Given the description of an element on the screen output the (x, y) to click on. 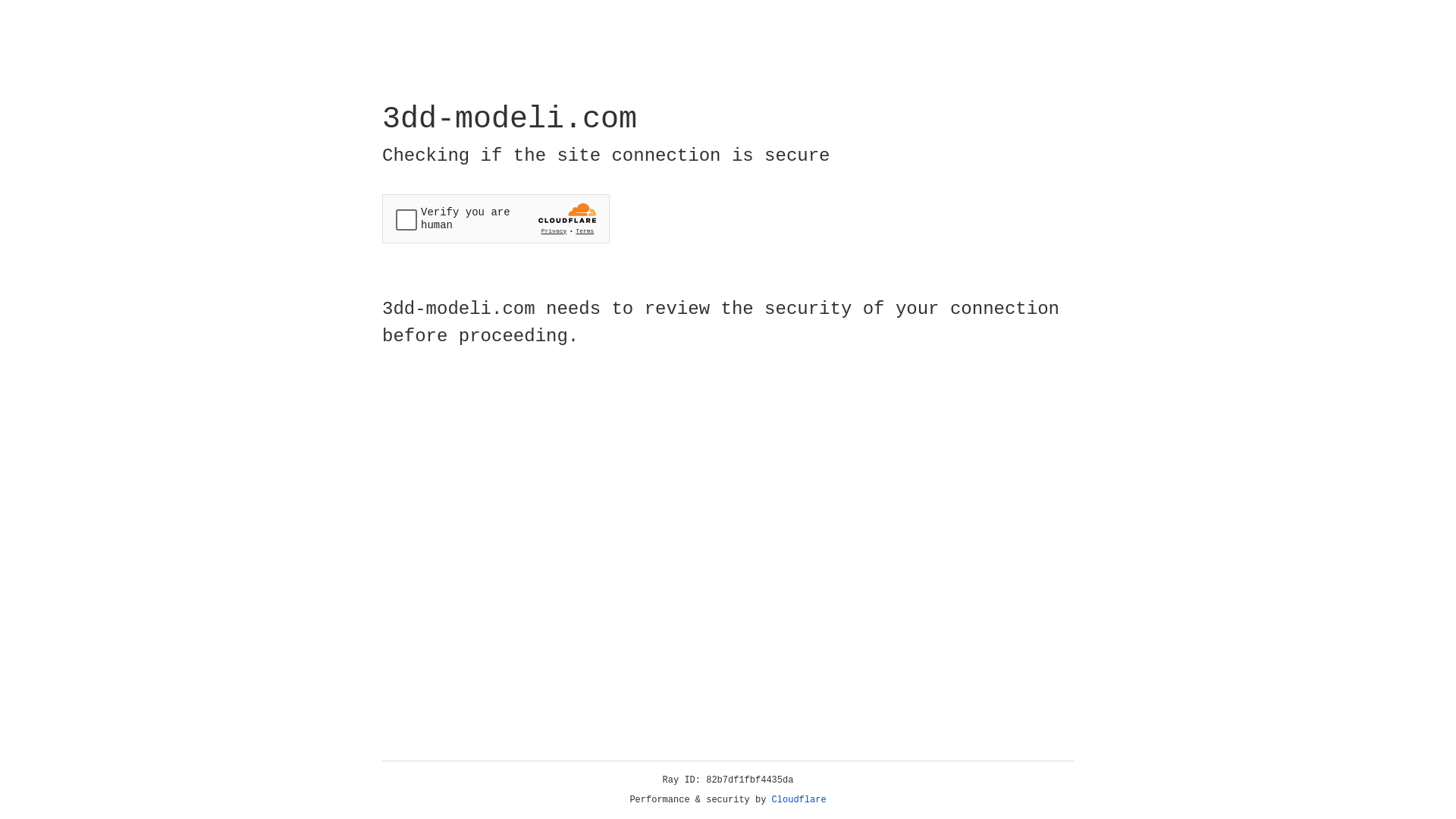
Cloudflare Element type: text (798, 799)
Widget containing a Cloudflare security challenge Element type: hover (495, 218)
